Given the description of an element on the screen output the (x, y) to click on. 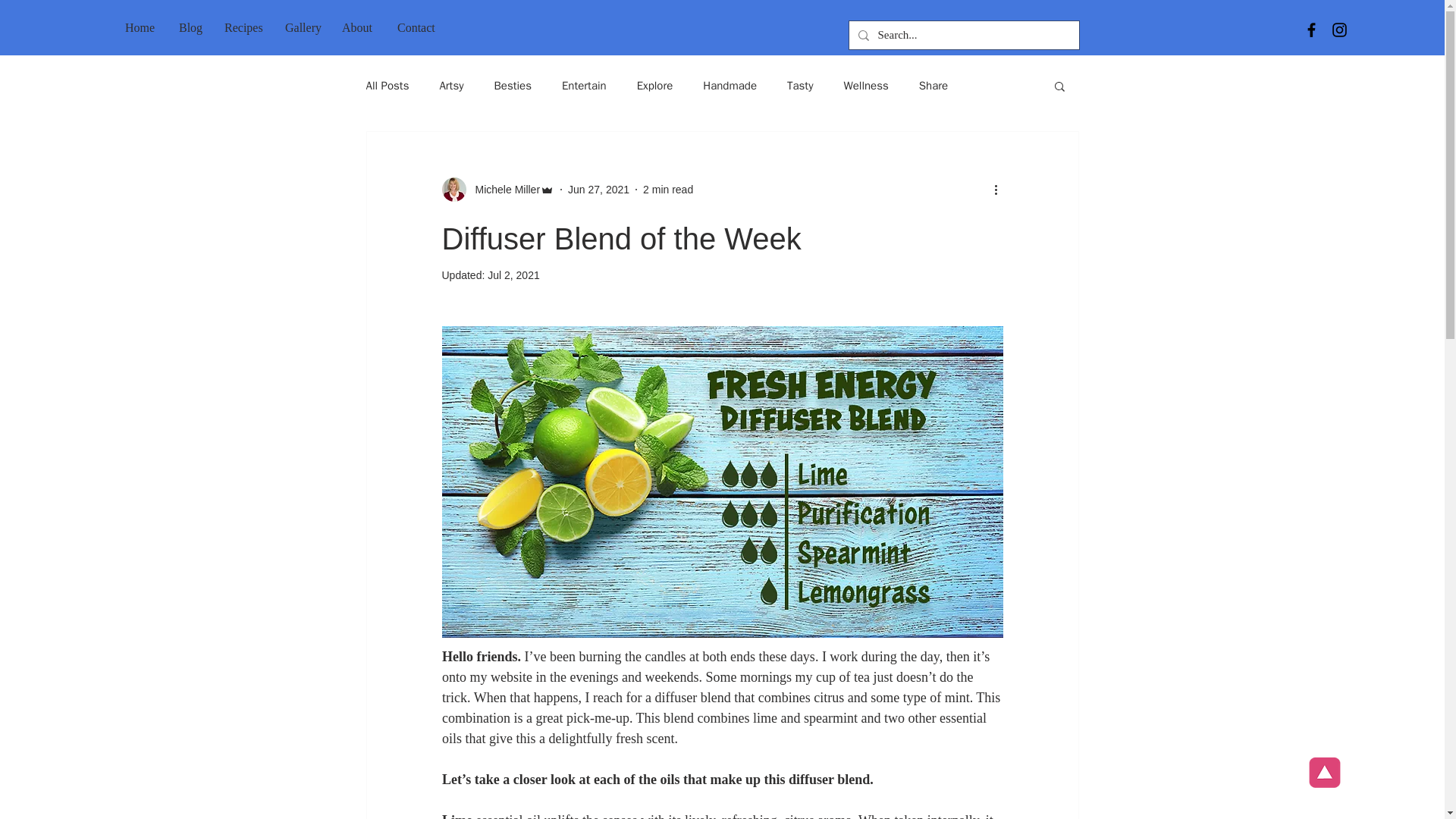
Contact (417, 27)
Besties (513, 85)
Jun 27, 2021 (597, 189)
Handmade (730, 85)
Michele Miller (502, 189)
2 min read (668, 189)
Michele Miller (497, 189)
Tasty (799, 85)
Top of Page (1324, 773)
Recipes (242, 27)
Entertain (584, 85)
Artsy (451, 85)
About (357, 27)
Explore (654, 85)
Wellness (865, 85)
